Given the description of an element on the screen output the (x, y) to click on. 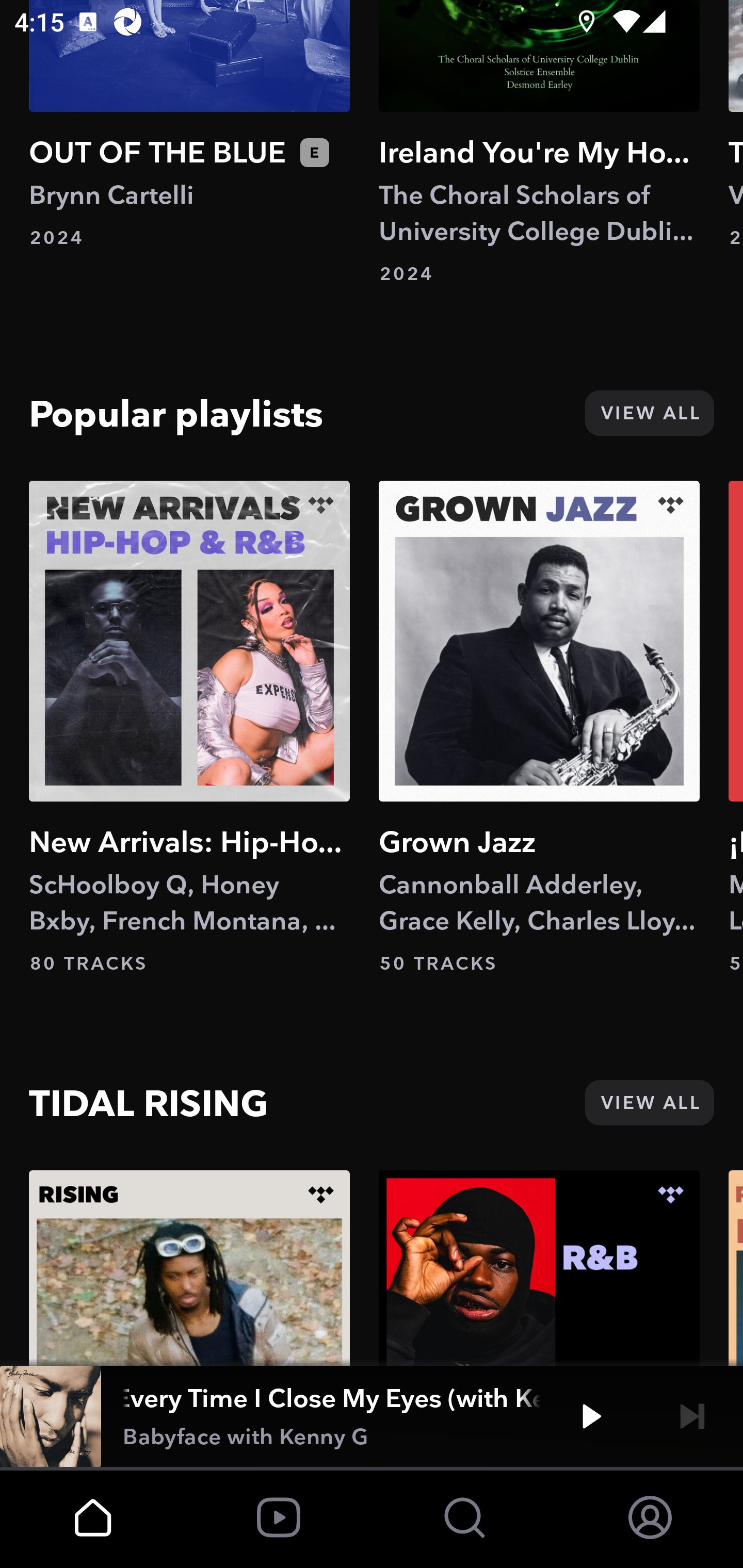
OUT OF THE BLUE Brynn Cartelli 2024 (188, 124)
VIEW ALL (649, 412)
VIEW ALL (649, 1102)
Play (590, 1416)
